Given the description of an element on the screen output the (x, y) to click on. 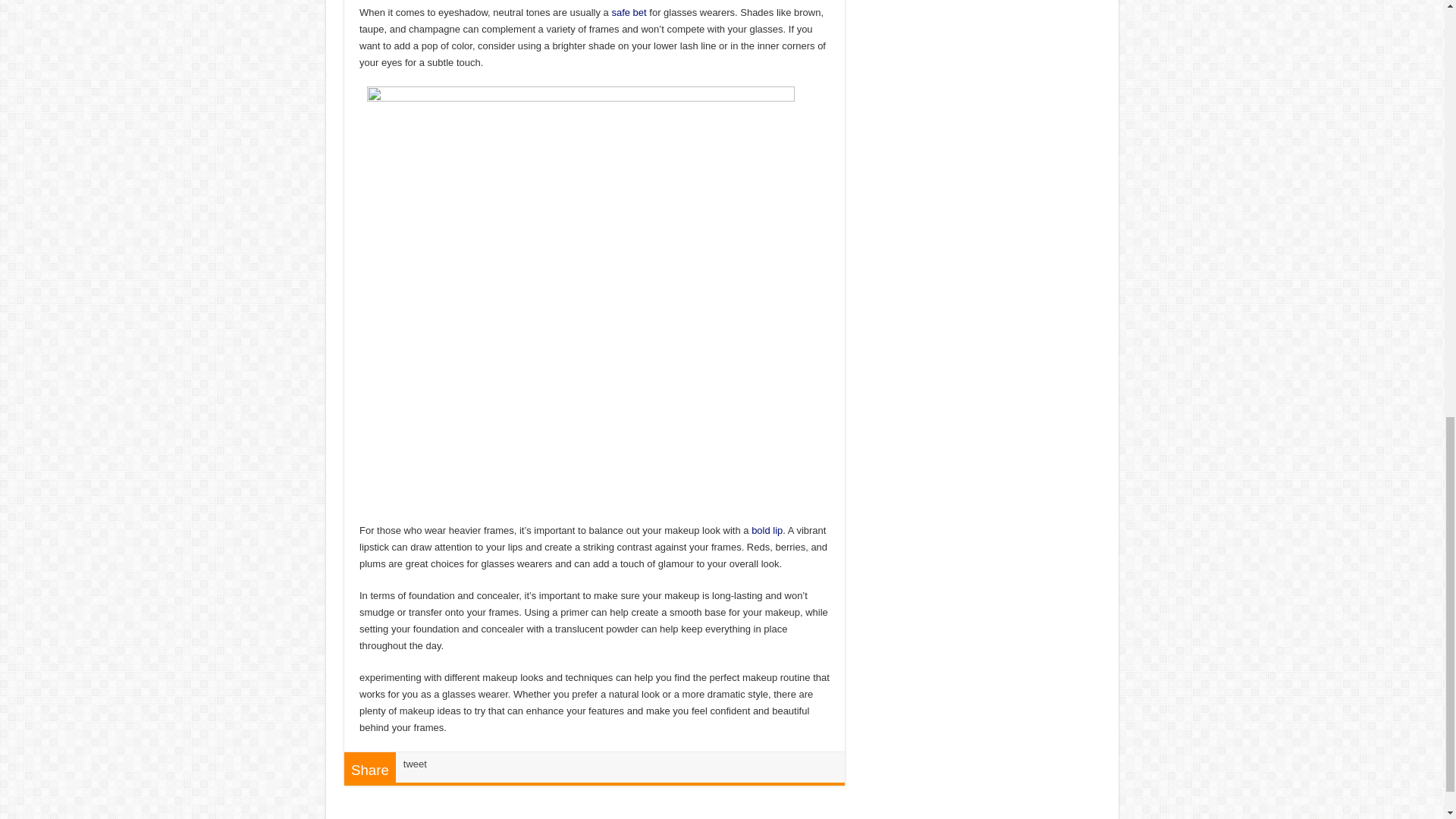
Vintage Glamour: How to Achieve 1950s Inspired Makeup (767, 530)
bold lip (767, 530)
Stylish and Professional Maternity Attire for the Workplace (628, 12)
tweet (414, 763)
safe bet (628, 12)
Enhance Your Look: Makeup Ideas for Glasses Wearers (580, 299)
